Given the description of an element on the screen output the (x, y) to click on. 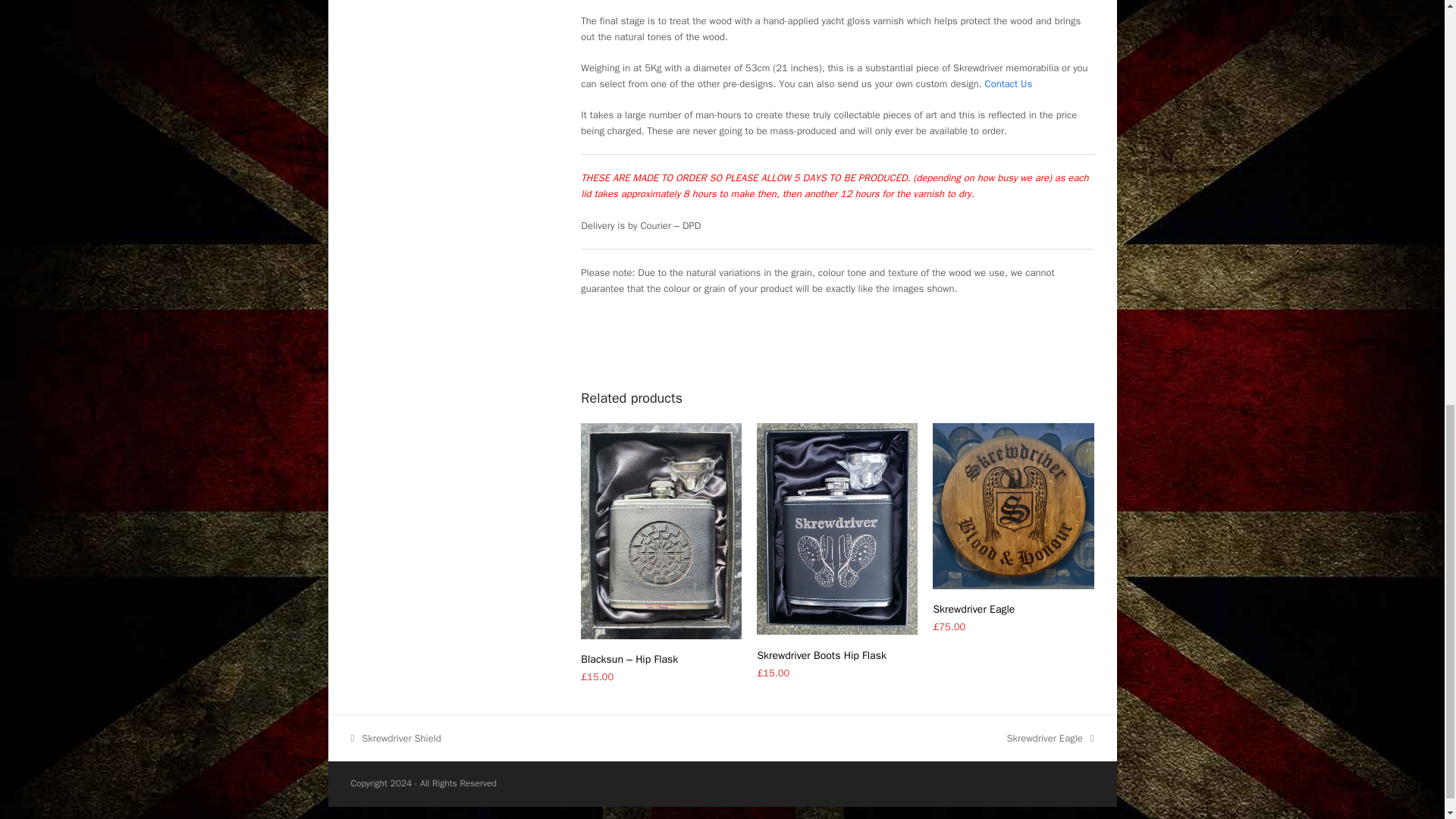
Skrewdriver Eagle (1013, 608)
Contact Us (1008, 83)
Skrewdriver Boots Hip Flask (837, 655)
